Given the description of an element on the screen output the (x, y) to click on. 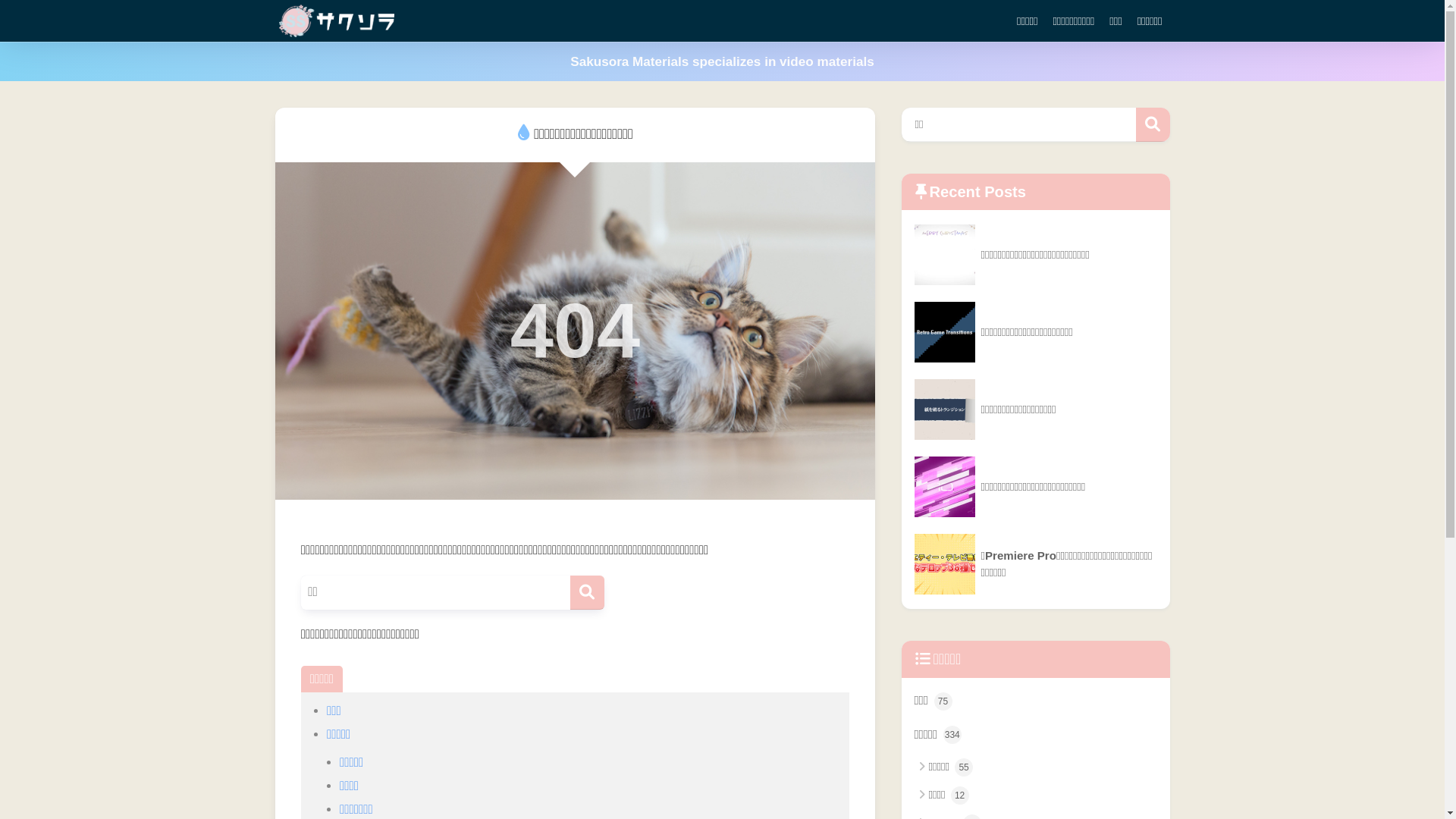
Sakusora Materials specializes in video materials Element type: text (722, 61)
on Element type: text (4, 4)
